Given the description of an element on the screen output the (x, y) to click on. 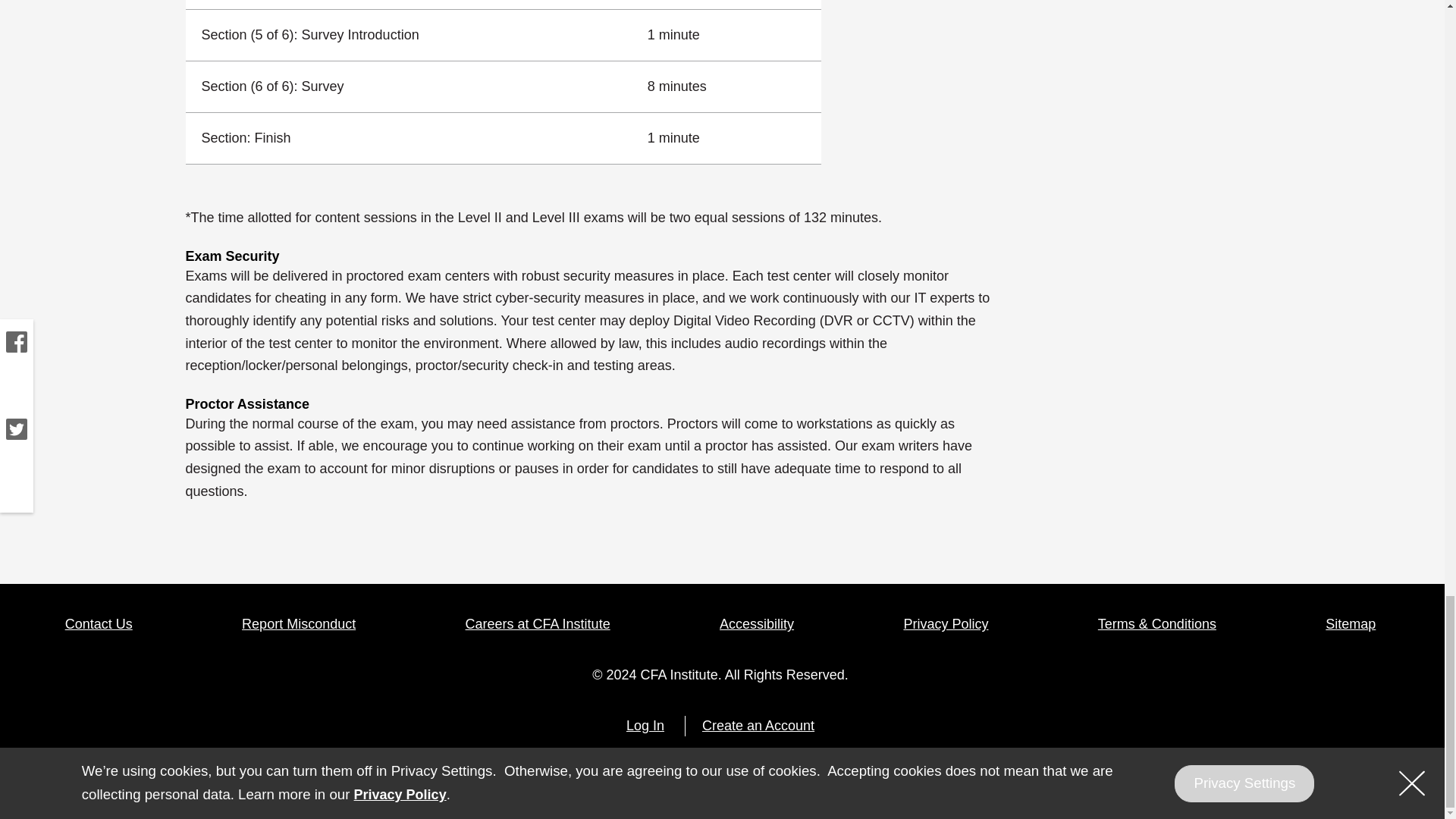
Privacy Policy (945, 624)
Terms and Conditions (1156, 624)
Sitemap (1349, 624)
Report Misconduct (298, 624)
Posted Careers (537, 624)
